Given the description of an element on the screen output the (x, y) to click on. 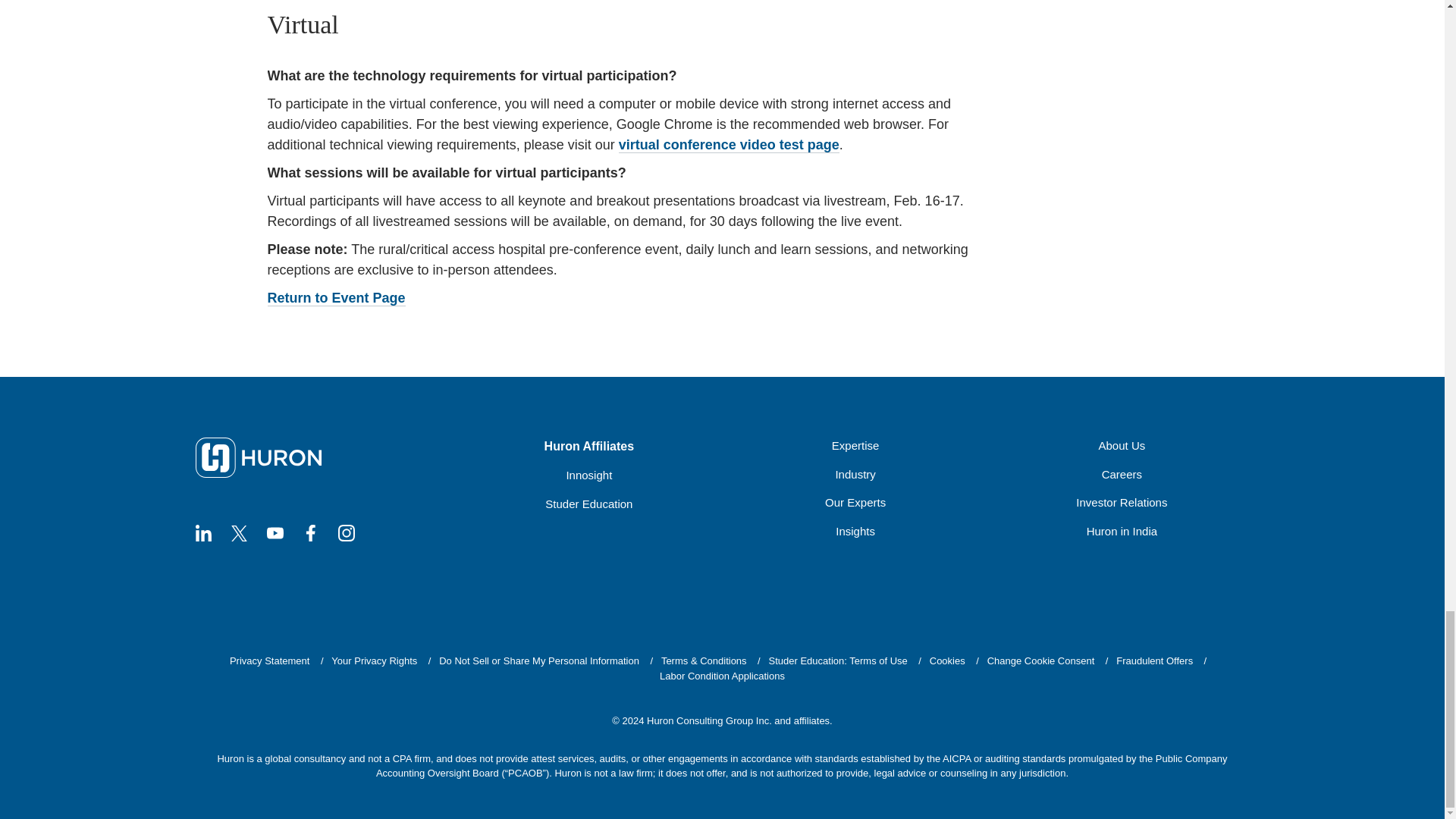
Instagram Logo (346, 532)
Linkedin Logo (203, 532)
Facebook Logo (309, 532)
Youtube Logo (274, 532)
